Given the description of an element on the screen output the (x, y) to click on. 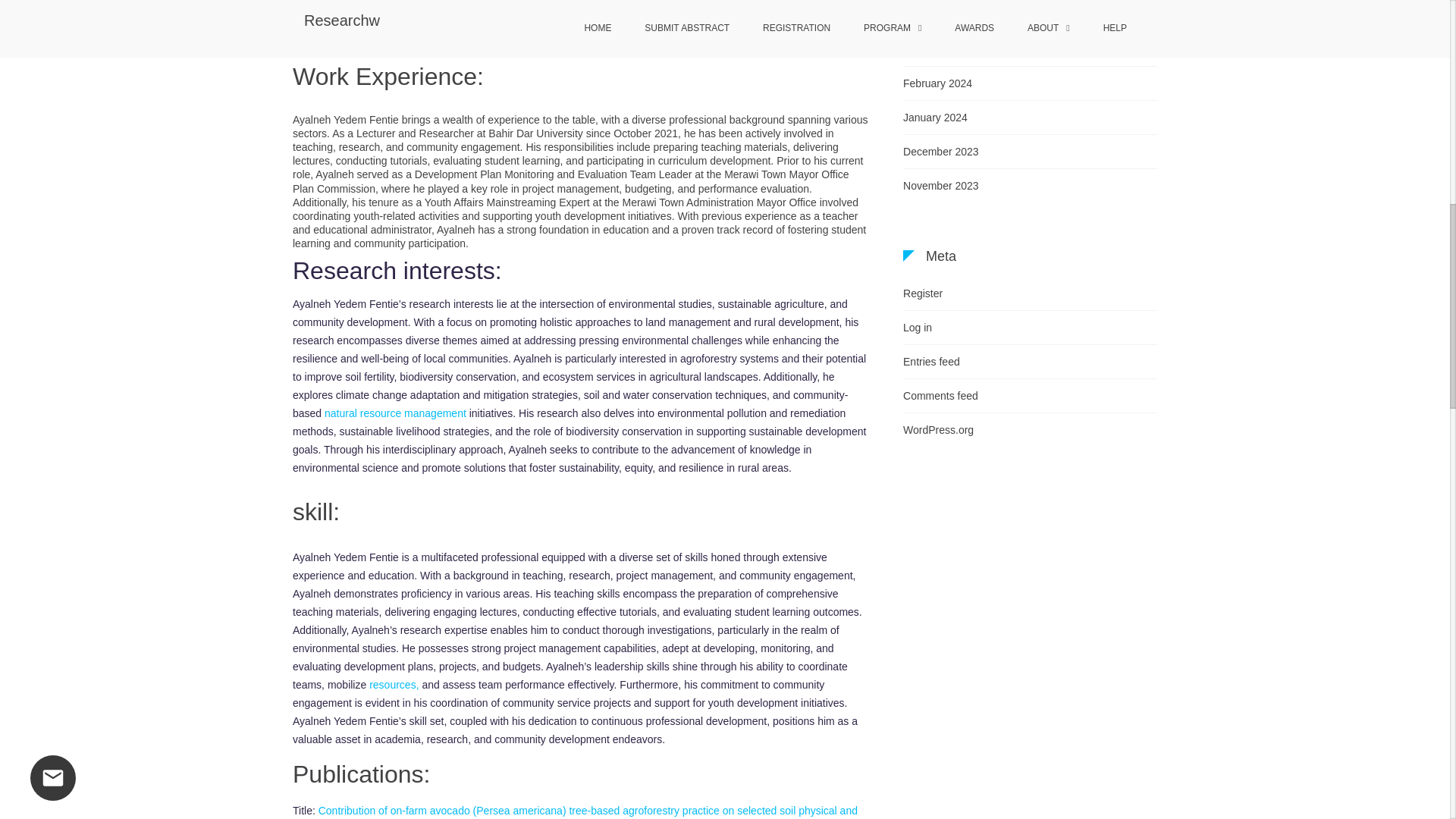
resources, (394, 684)
natural resource management (393, 413)
Orcid (335, 33)
